Given the description of an element on the screen output the (x, y) to click on. 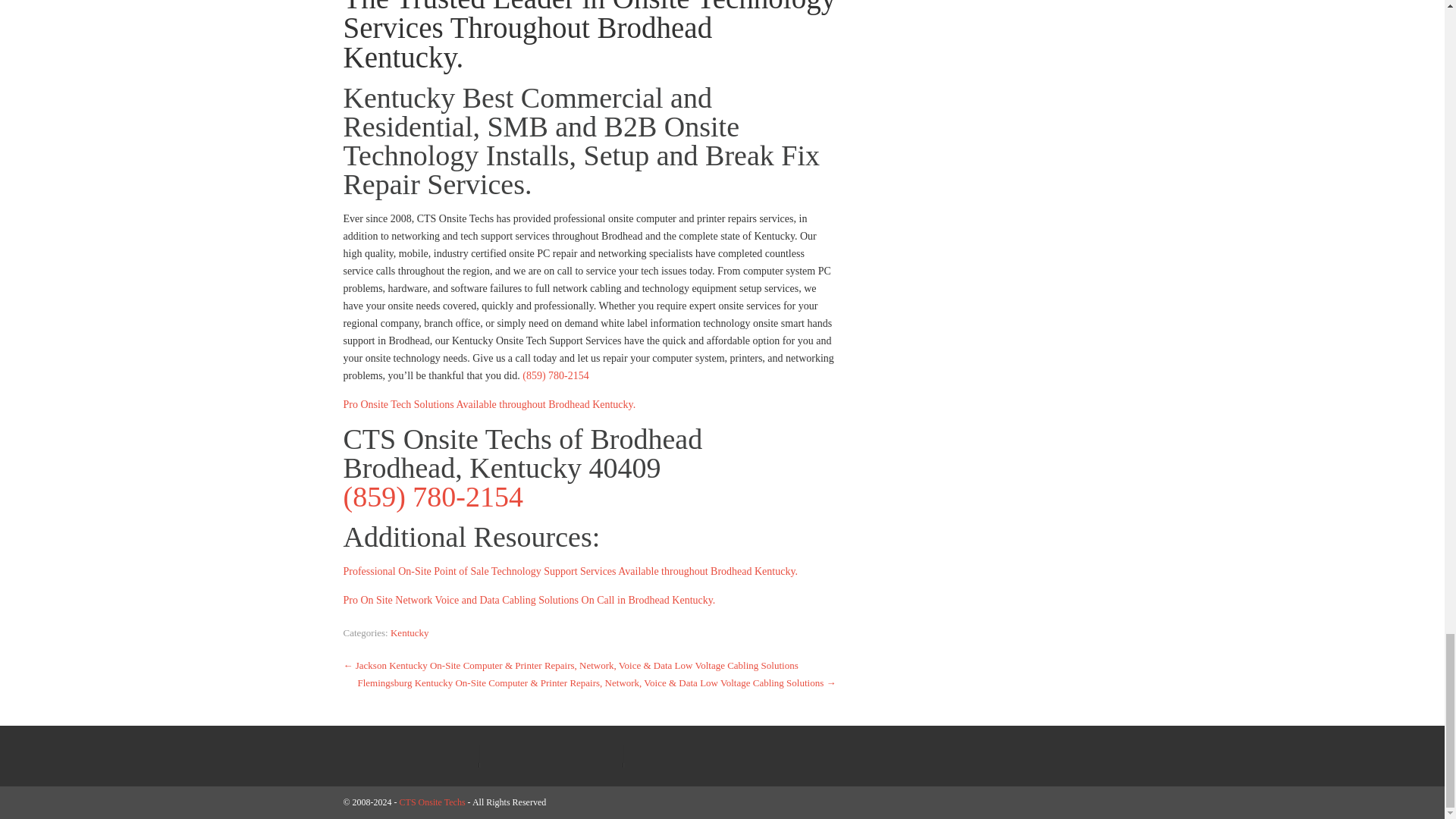
View all posts in Kentucky (409, 632)
Kentucky (409, 632)
